Given the description of an element on the screen output the (x, y) to click on. 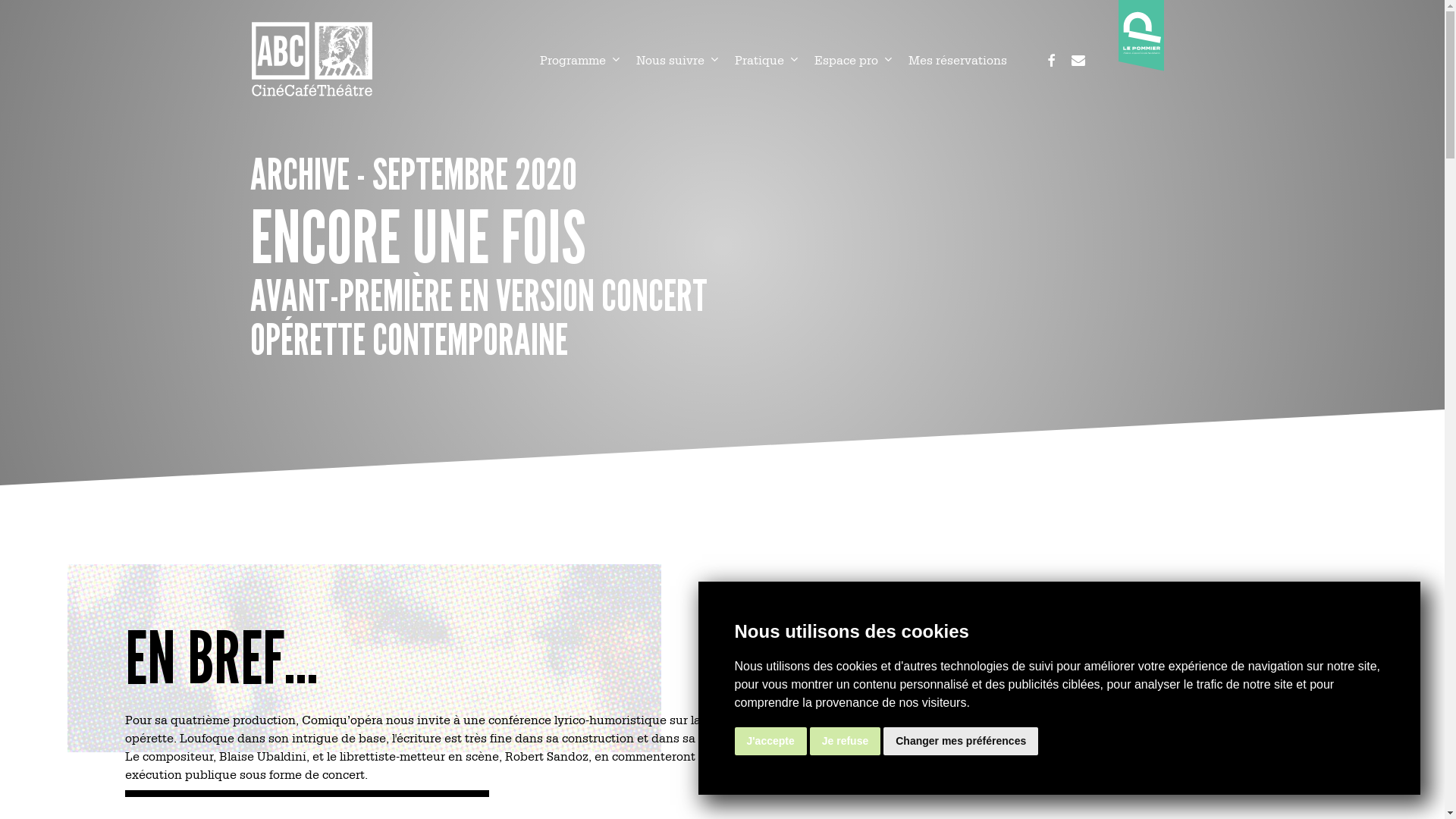
email Element type: text (1078, 59)
Espace pro Element type: text (853, 59)
Pratique Element type: text (766, 59)
Je refuse Element type: text (844, 741)
facebook Element type: text (1050, 59)
Nous suivre Element type: text (677, 59)
Programme Element type: text (580, 59)
J'accepte Element type: text (770, 741)
